Given the description of an element on the screen output the (x, y) to click on. 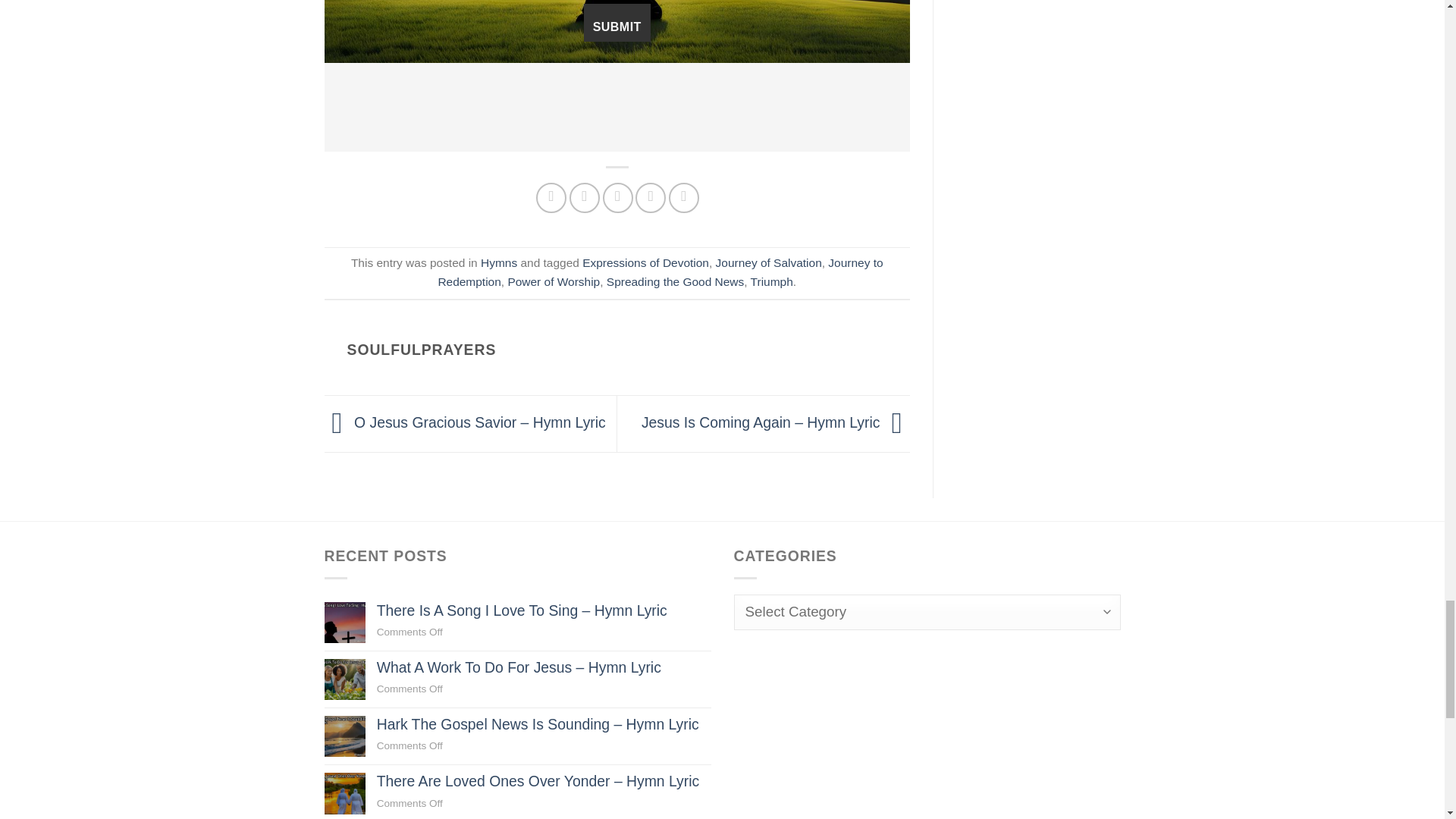
Journey of Salvation (769, 262)
Journey to Redemption (660, 272)
Share on Twitter (584, 197)
Share on Facebook (550, 197)
Email to a Friend (617, 197)
Share on LinkedIn (683, 197)
Pin on Pinterest (649, 197)
Spreading the Good News (675, 281)
Submit (616, 22)
Power of Worship (552, 281)
Hymns (498, 262)
Submit (616, 22)
Lord Jesus Life Eternal - Hymn Lyric (617, 31)
Triumph (772, 281)
Expressions of Devotion (645, 262)
